Given the description of an element on the screen output the (x, y) to click on. 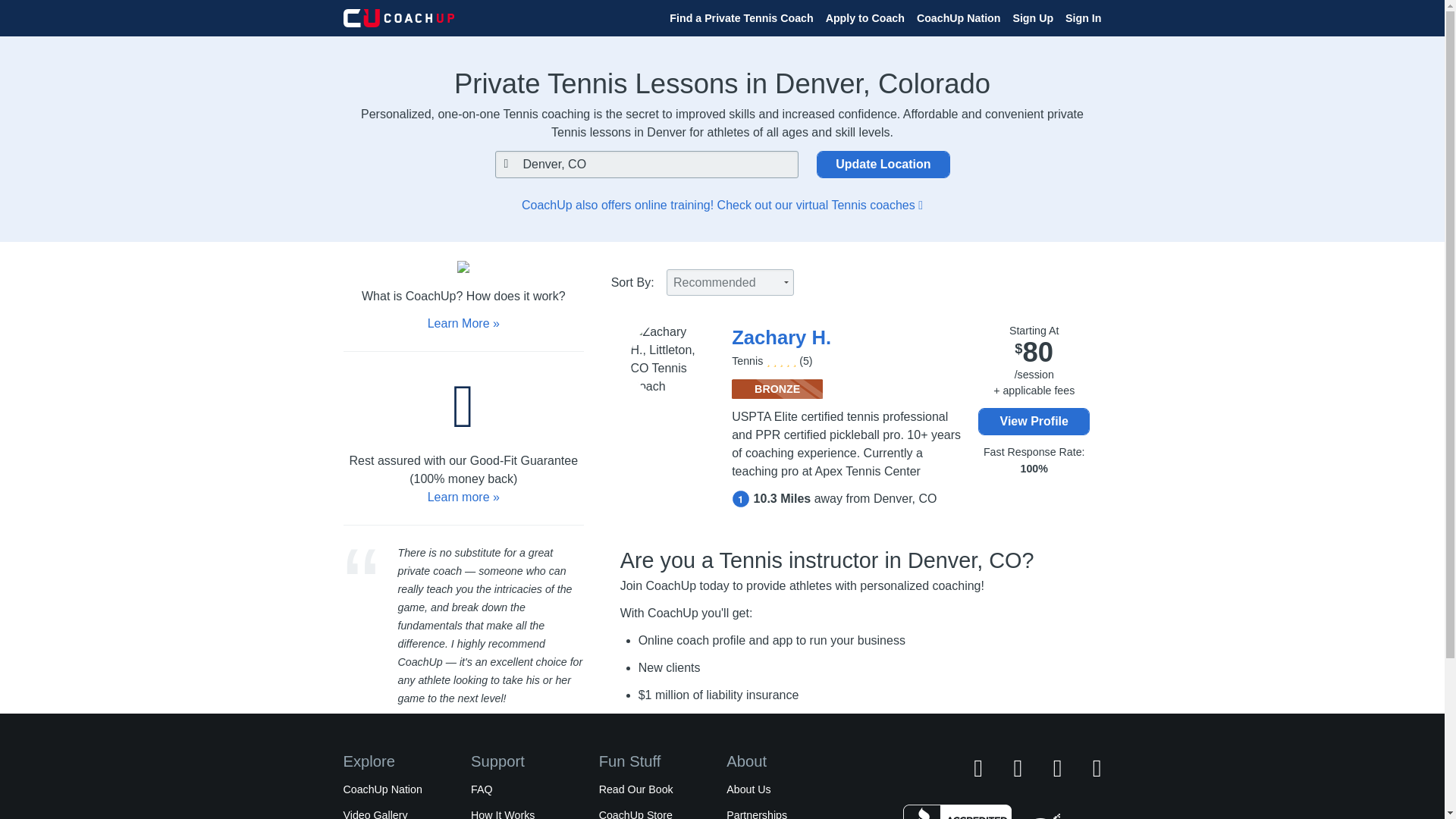
Apply now! (671, 754)
Update Location (882, 164)
Denver, CO (646, 164)
FAQ (481, 788)
Sign In (1082, 18)
Video Gallery (374, 814)
Zachary H. (781, 337)
View Profile (1033, 420)
Find a Private Tennis Coach (740, 18)
